Given the description of an element on the screen output the (x, y) to click on. 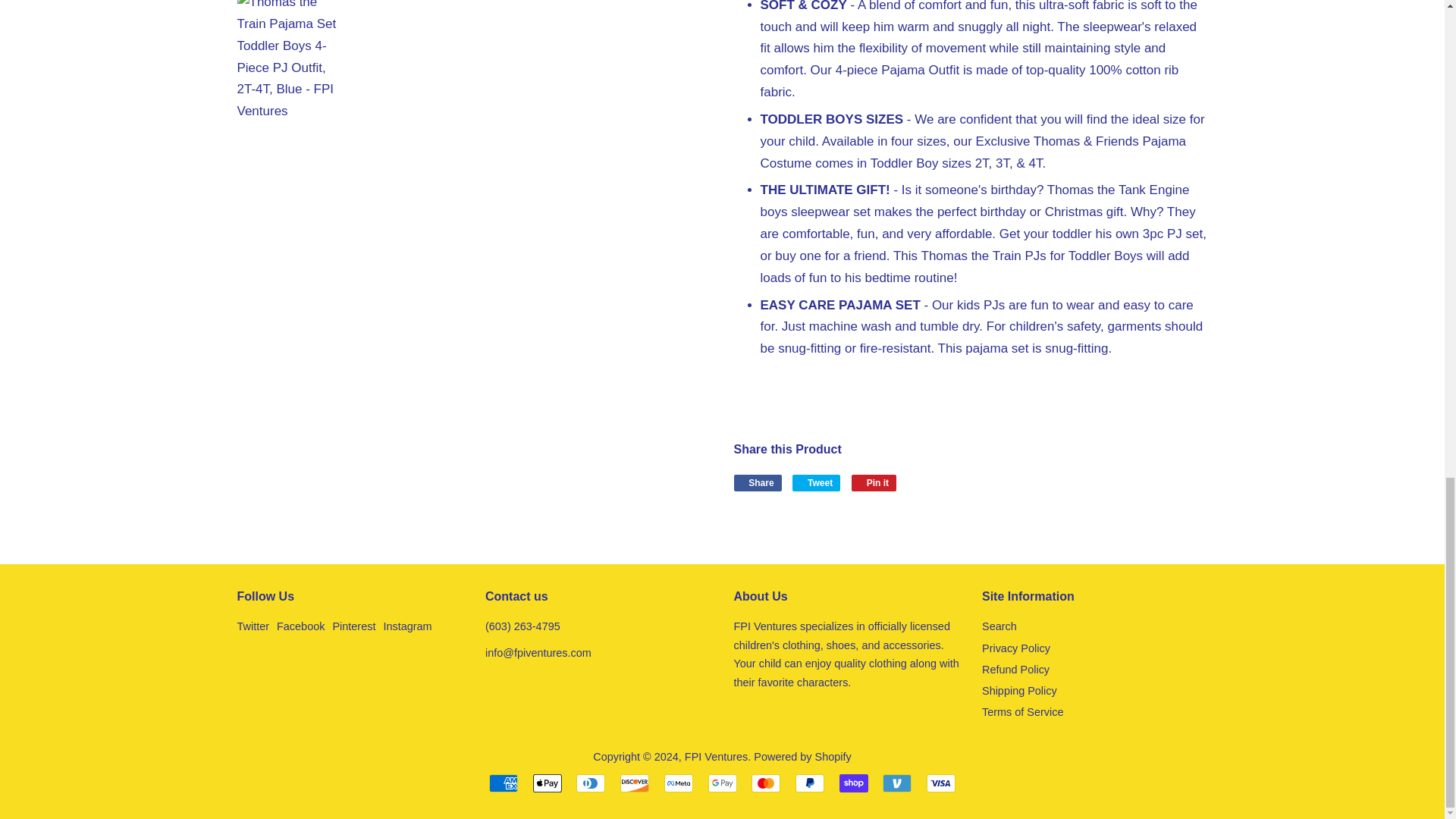
Google Pay (721, 782)
FPI Ventures on Pinterest (353, 625)
PayPal (809, 782)
FPI Ventures on Instagram (406, 625)
Venmo (896, 782)
Shop Pay (853, 782)
Mastercard (765, 782)
Pin on Pinterest (873, 483)
Discover (634, 782)
Share on Facebook (757, 483)
